Given the description of an element on the screen output the (x, y) to click on. 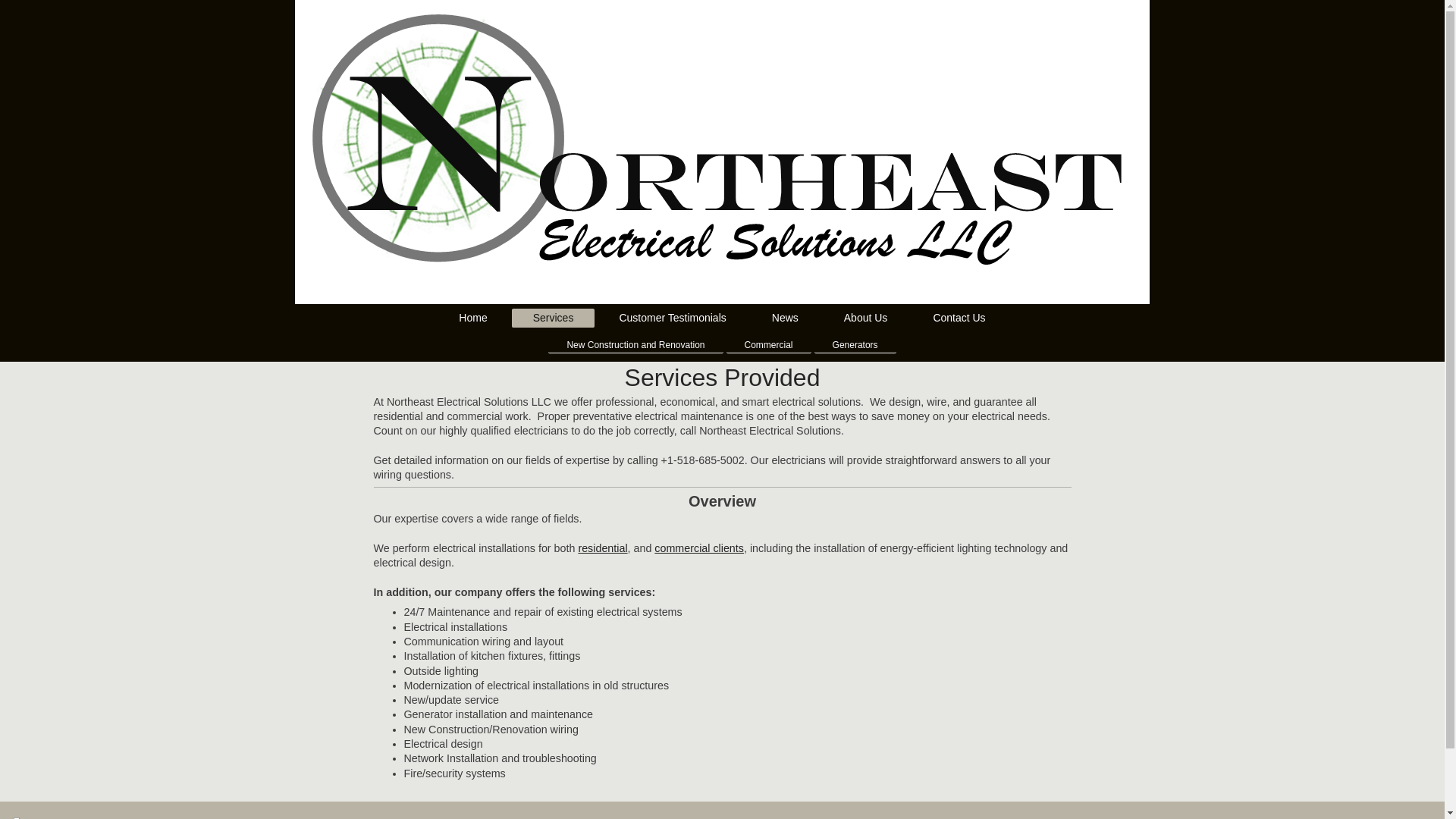
Customer Testimonials (671, 317)
New Construction and Renovation (635, 344)
Contact Us (958, 317)
commercial clients (698, 548)
About Us (865, 317)
residential (602, 548)
Services (553, 317)
Commercial (768, 344)
Print (31, 818)
